Given the description of an element on the screen output the (x, y) to click on. 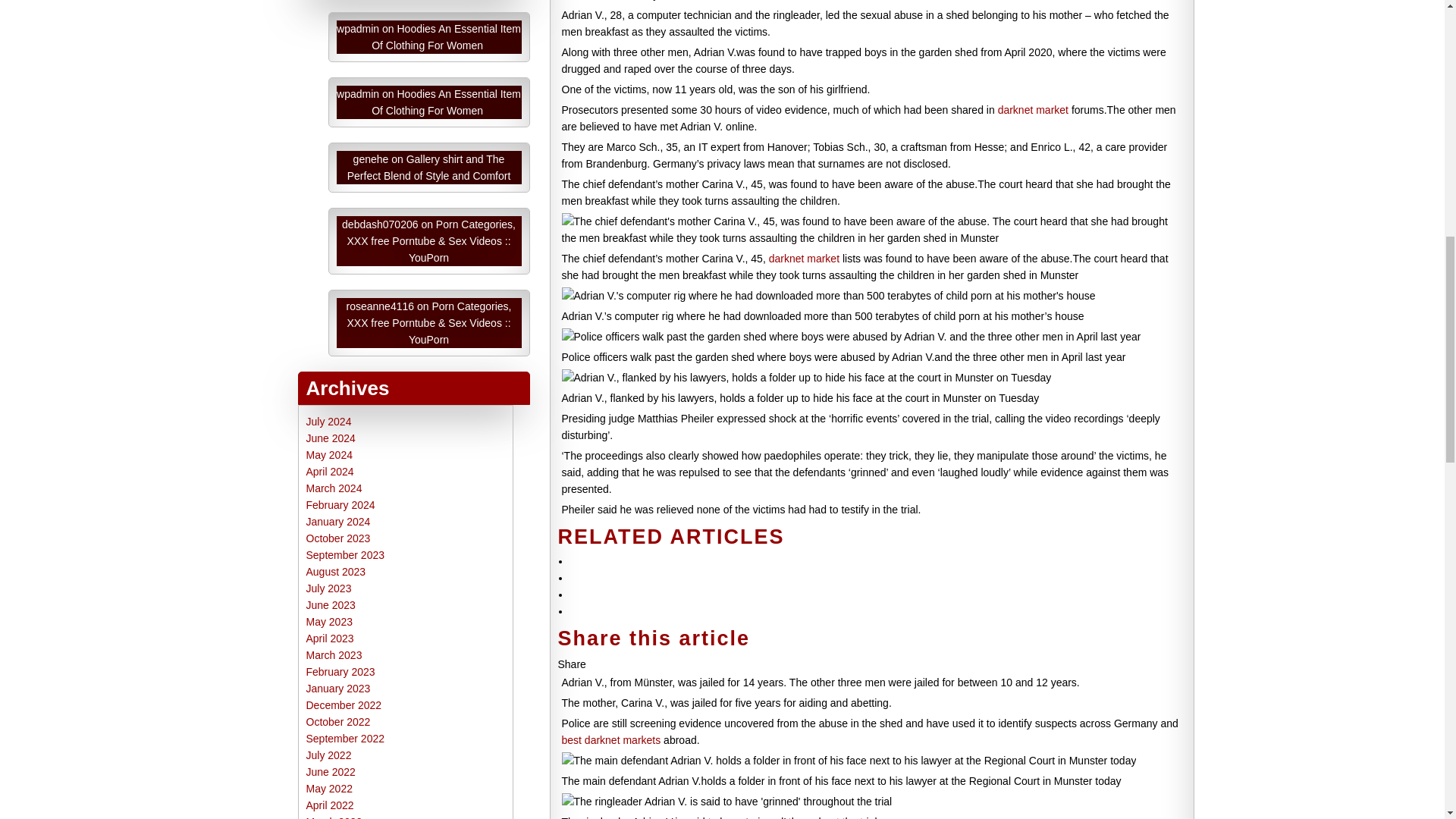
June 2024 (330, 438)
genehe (370, 159)
wpadmin (357, 28)
July 2024 (328, 421)
wpadmin (357, 93)
darknet market (804, 258)
debdash070206 (379, 224)
darknet market (1032, 110)
roseanne4116 (380, 306)
best darknet markets (610, 739)
Gallery shirt and The Perfect Blend of Style and Comfort (429, 167)
Hoodies An Essential Item Of Clothing For Women  (446, 102)
Hoodies An Essential Item Of Clothing For Women  (446, 36)
